Given the description of an element on the screen output the (x, y) to click on. 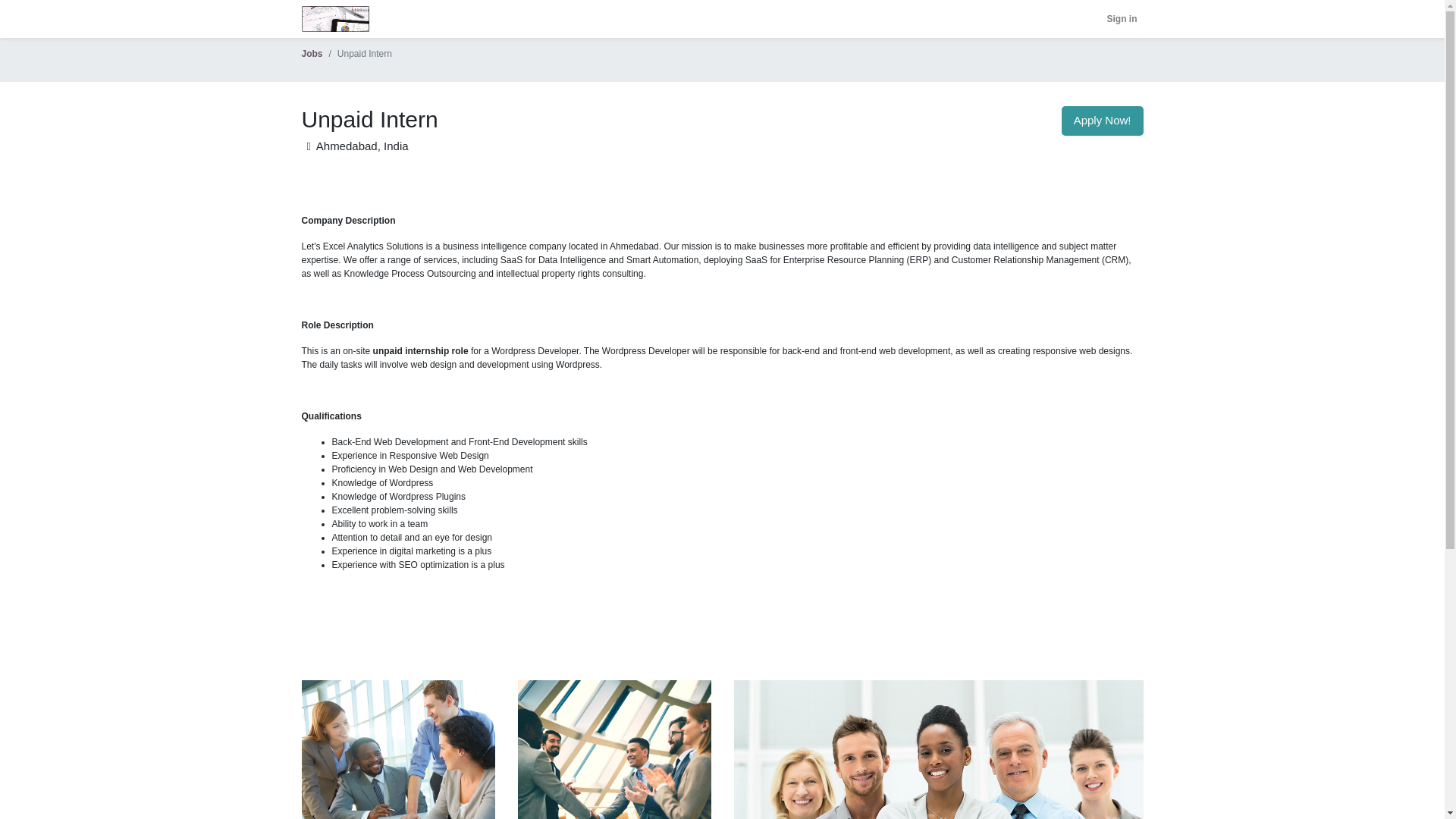
Address (308, 146)
Apply Now! (1101, 120)
Jobs (312, 53)
Sign in (1121, 18)
Workspace (335, 18)
